Given the description of an element on the screen output the (x, y) to click on. 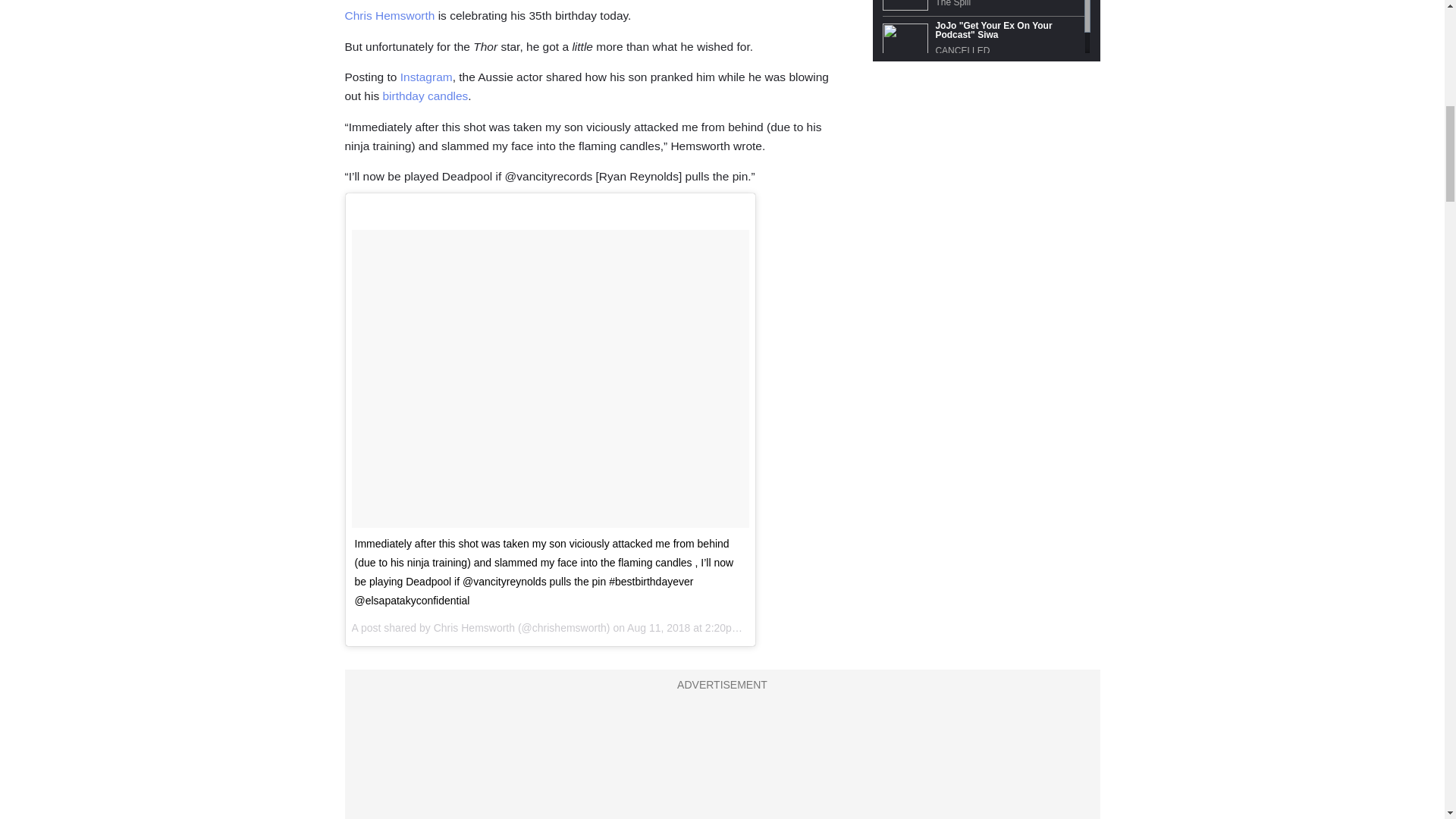
birthday candles (424, 95)
Instagram (426, 76)
Chris Hemsworth (388, 15)
Chris Hemsworth (474, 627)
